Given the description of an element on the screen output the (x, y) to click on. 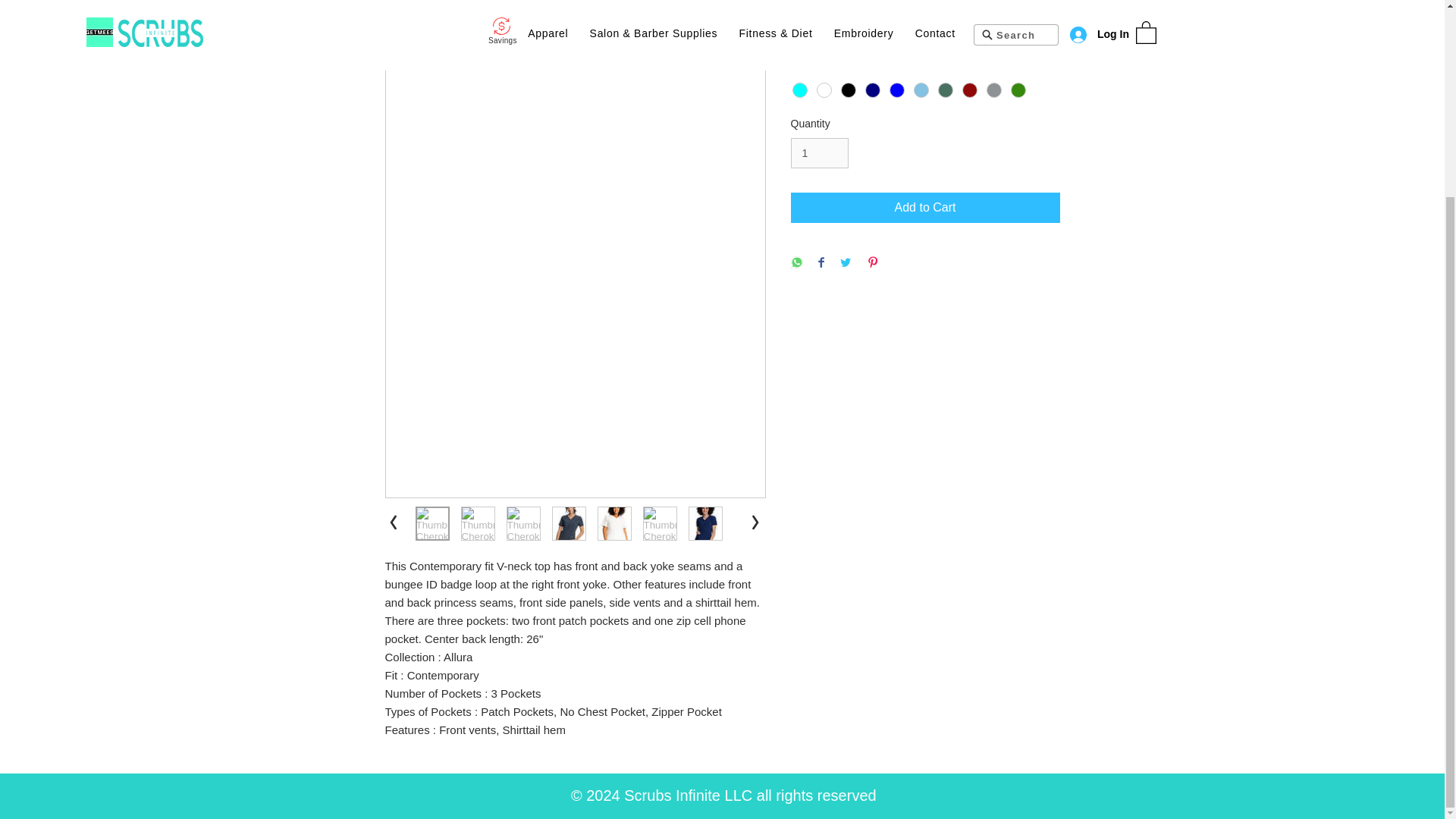
Add to Cart (924, 207)
Select (924, 29)
1 (818, 153)
